Given the description of an element on the screen output the (x, y) to click on. 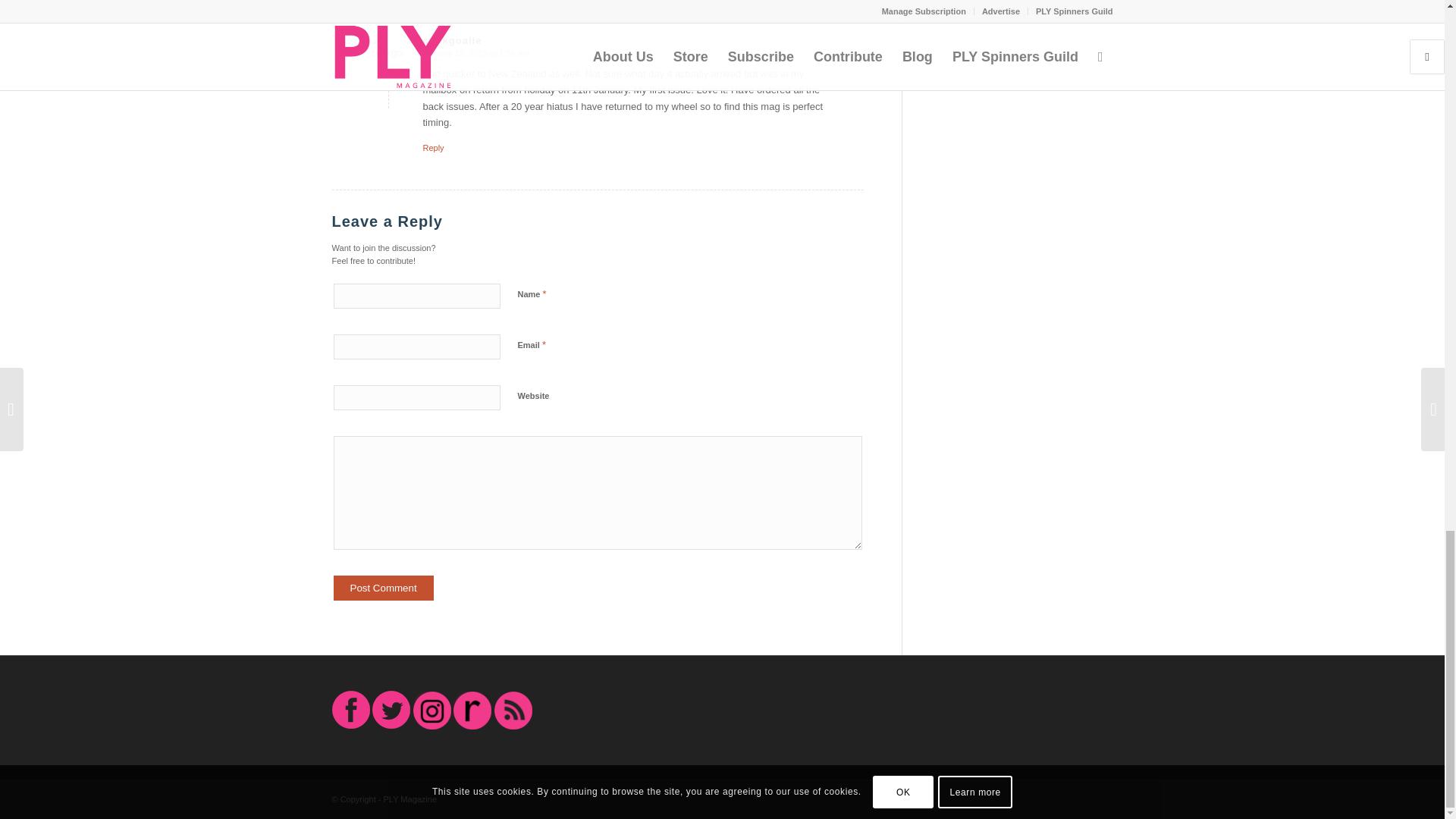
Post Comment (383, 587)
